Given the description of an element on the screen output the (x, y) to click on. 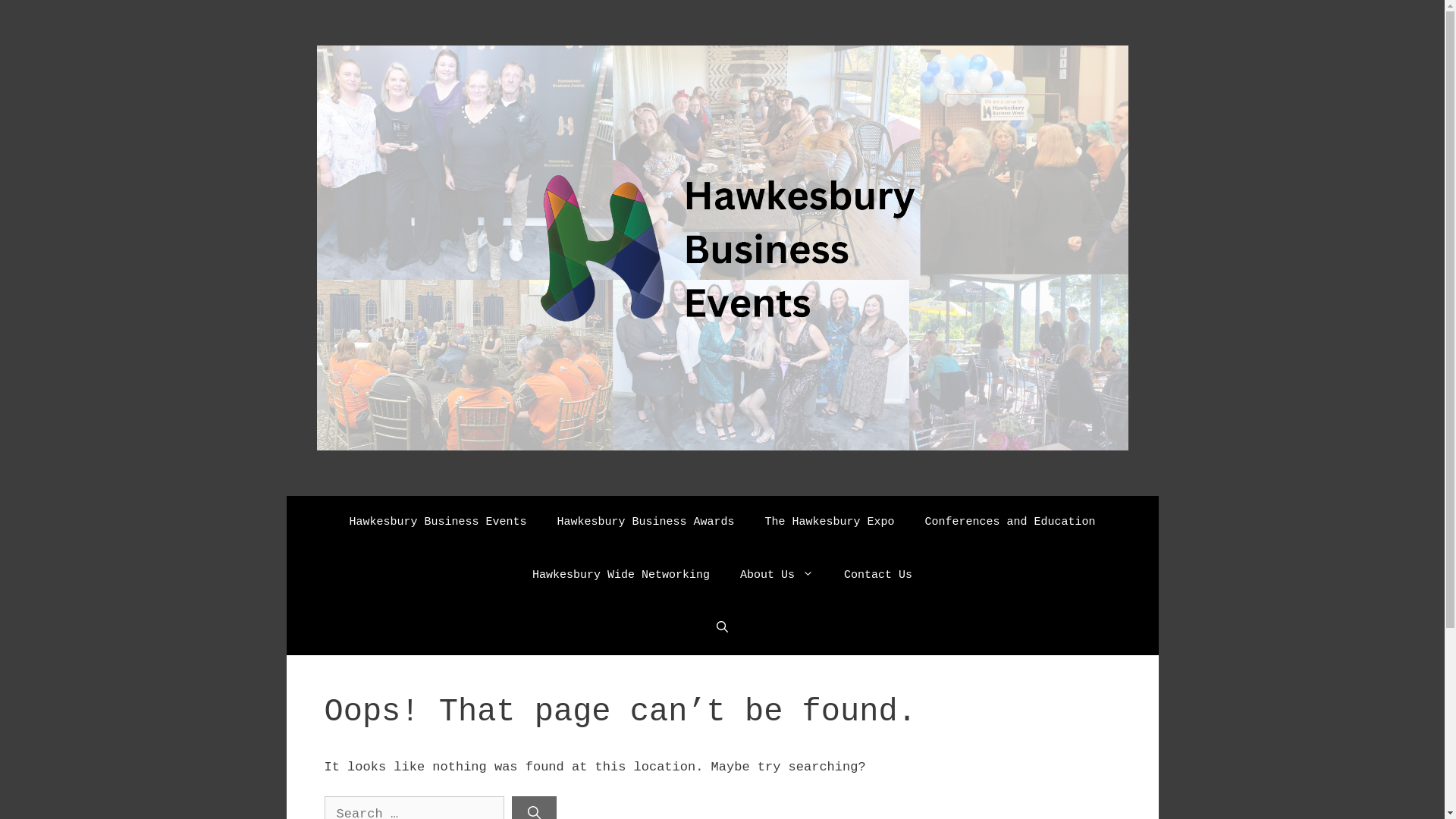
Hawkesbury Wide Networking Element type: text (620, 575)
Hawkesbury Business Awards Element type: text (645, 522)
About Us Element type: text (776, 575)
Conferences and Education Element type: text (1010, 522)
Hawkesbury Business Events Element type: text (437, 522)
The Hawkesbury Expo Element type: text (829, 522)
Contact Us Element type: text (877, 575)
